Given the description of an element on the screen output the (x, y) to click on. 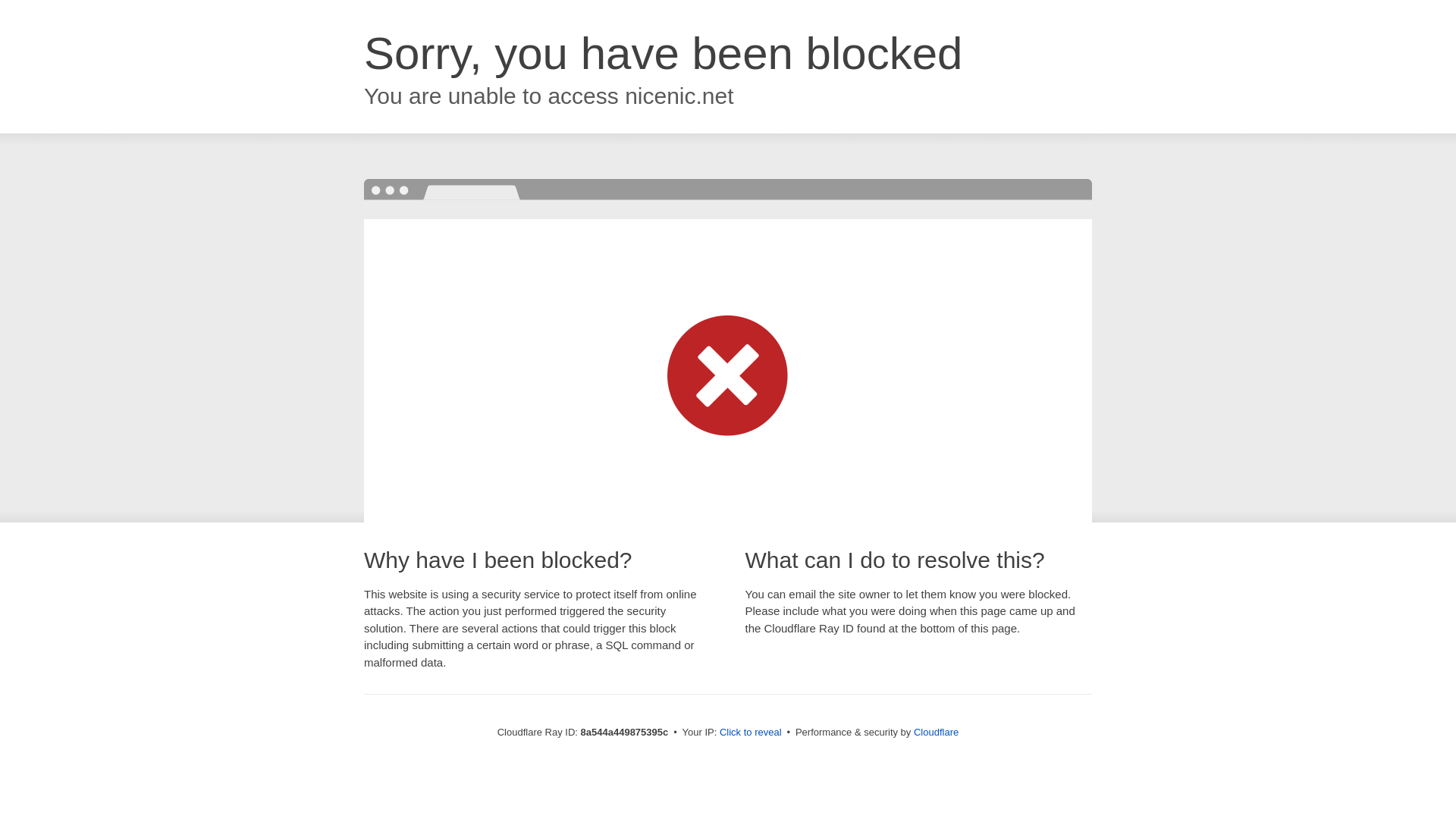
Cloudflare (936, 731)
Click to reveal (750, 732)
